Given the description of an element on the screen output the (x, y) to click on. 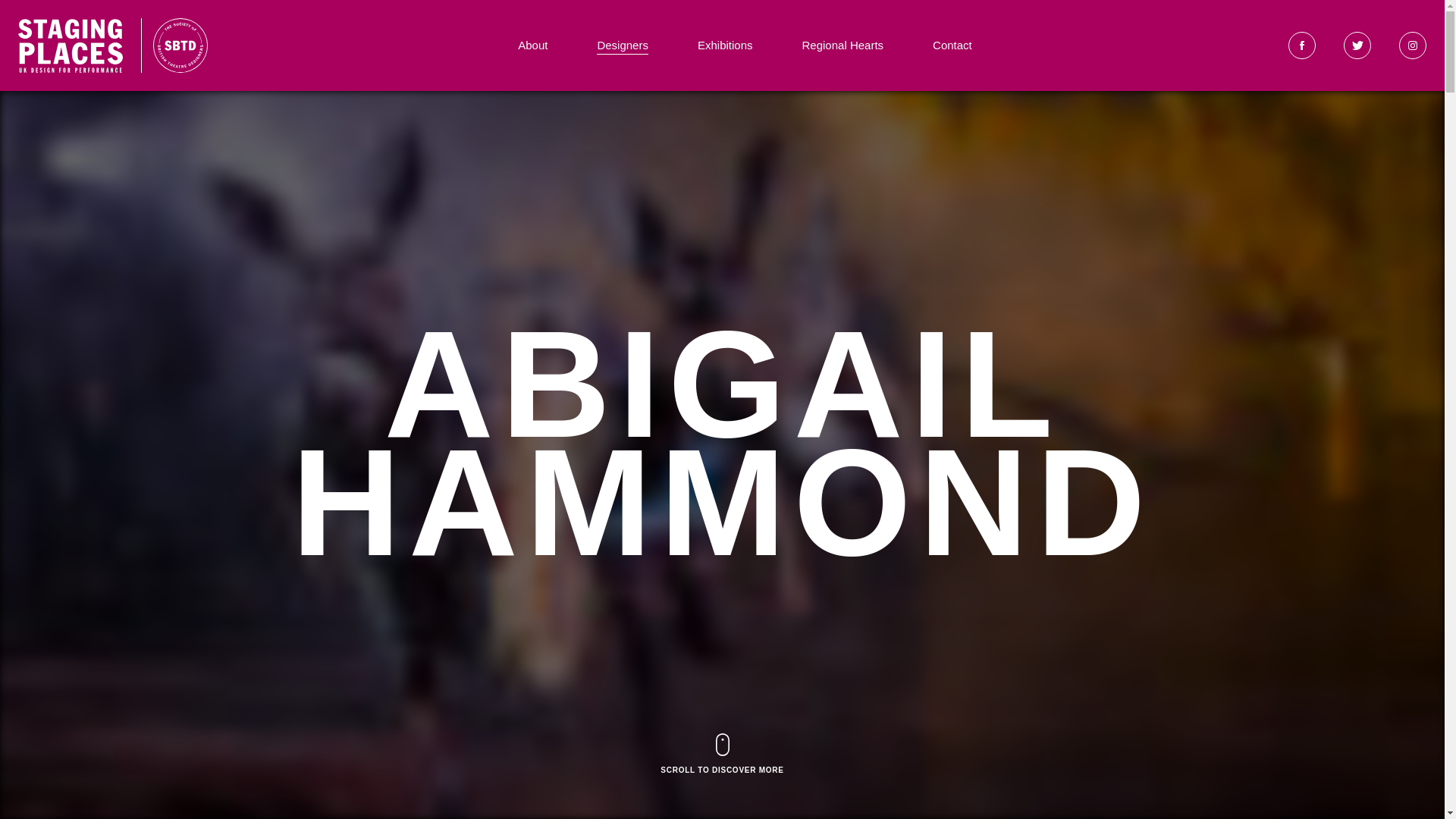
Contact (952, 45)
Facebook (1302, 44)
Regional Hearts (842, 45)
Staging Places (69, 45)
SCROLL TO DISCOVER MORE (721, 755)
About (532, 45)
SCROLL TO DISCOVER MORE (721, 755)
Designers (621, 45)
Twitter (1357, 44)
Staging Places (180, 45)
Instagram (1412, 44)
Exhibitions (724, 45)
